Given the description of an element on the screen output the (x, y) to click on. 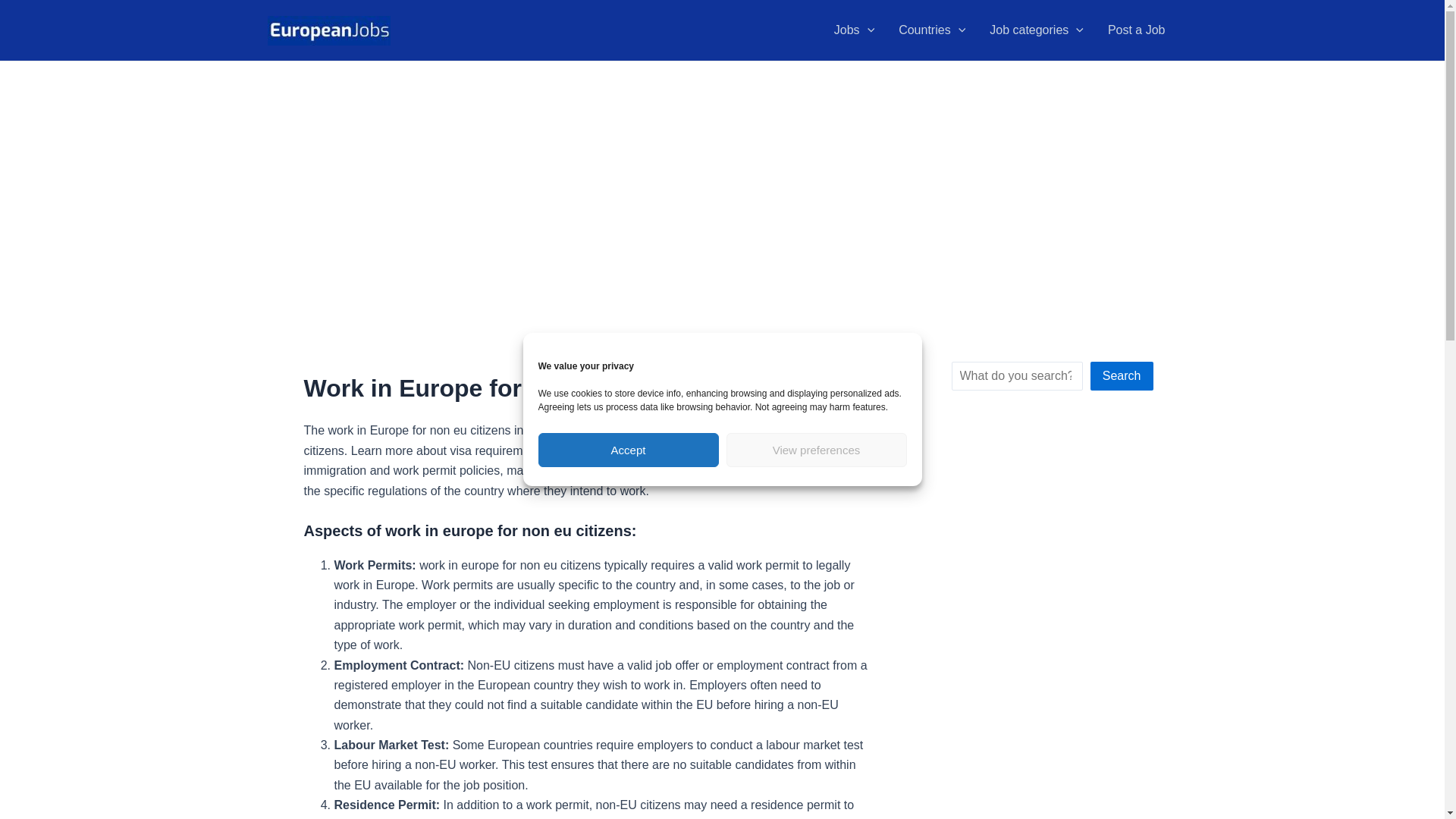
Countries (931, 30)
View preferences (816, 449)
Job categories (1036, 30)
Accept (628, 449)
Jobs (854, 30)
